Given the description of an element on the screen output the (x, y) to click on. 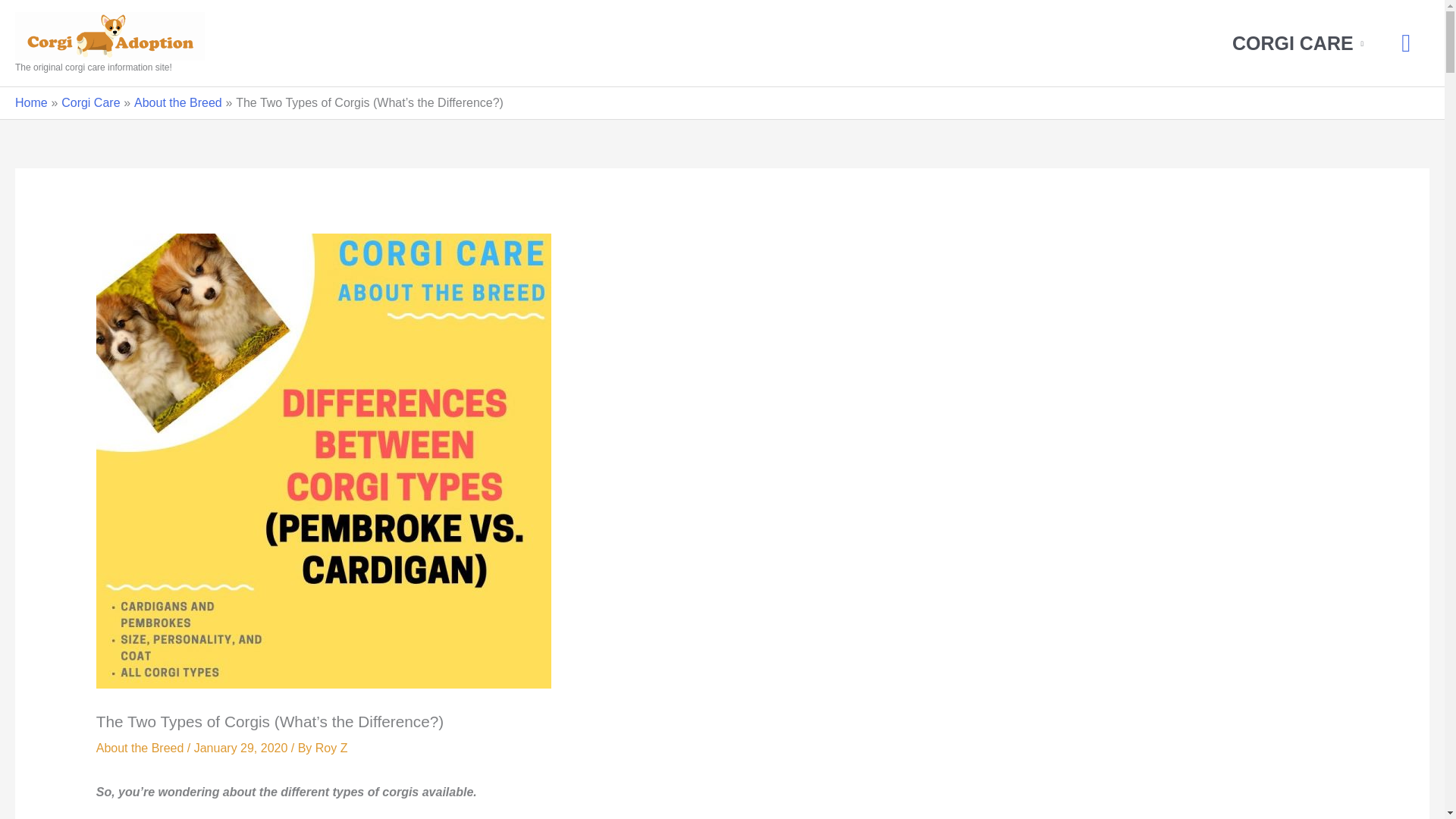
Corgi Care (90, 102)
About the Breed (140, 748)
CORGI CARE (1296, 43)
View all posts by Roy Z (331, 748)
Roy Z (331, 748)
Home (31, 102)
About the Breed (177, 102)
